Given the description of an element on the screen output the (x, y) to click on. 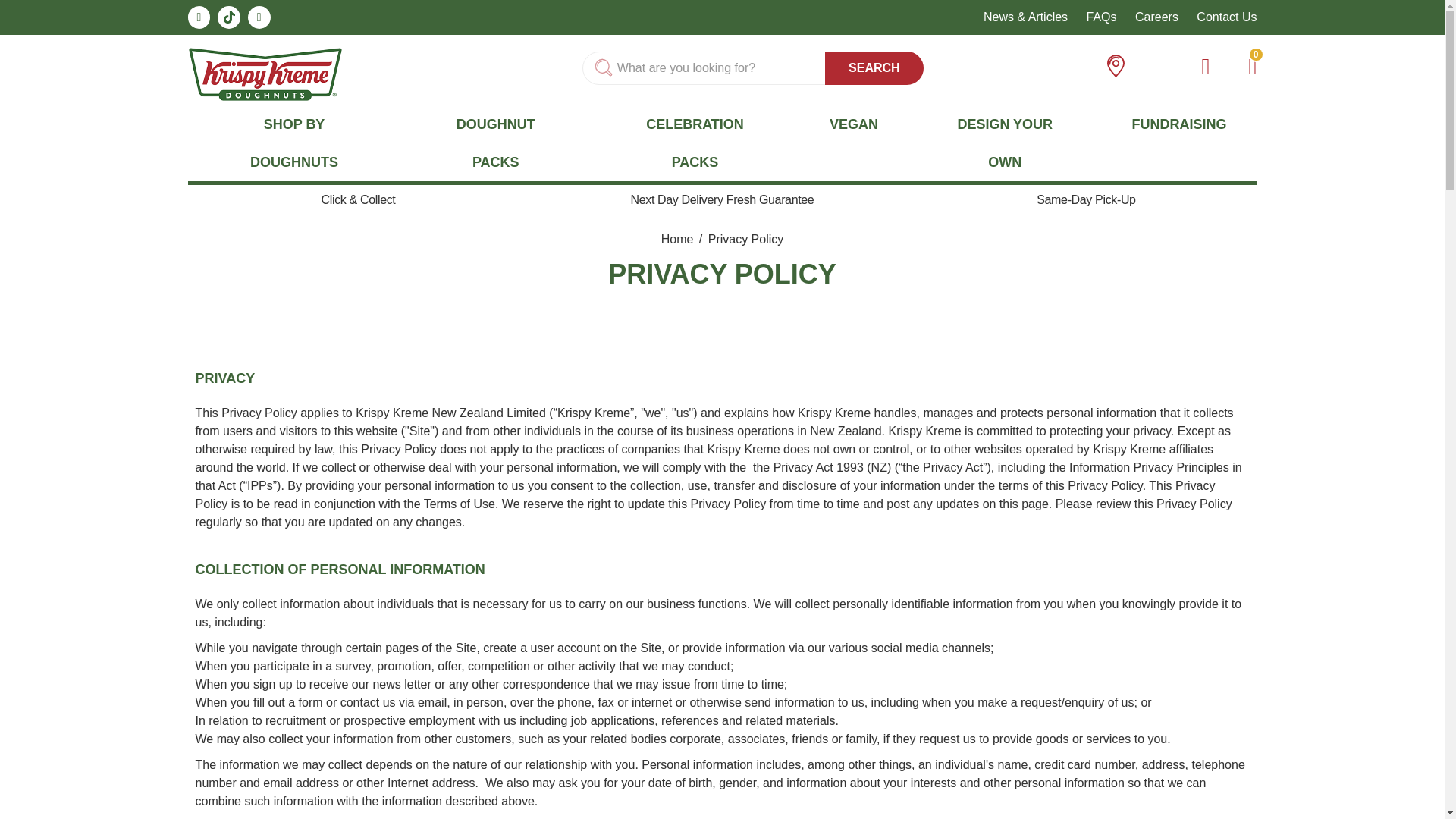
Careers (1156, 17)
Go to Home Page (679, 238)
FAQs (1101, 17)
Search (874, 68)
Contact Us (1226, 17)
Krispy Kreme logo (264, 72)
Krispy Kreme logo (264, 73)
SEARCH (874, 68)
SHOP BY DOUGHNUTS (294, 142)
DOUGHNUT PACKS (496, 142)
